Given the description of an element on the screen output the (x, y) to click on. 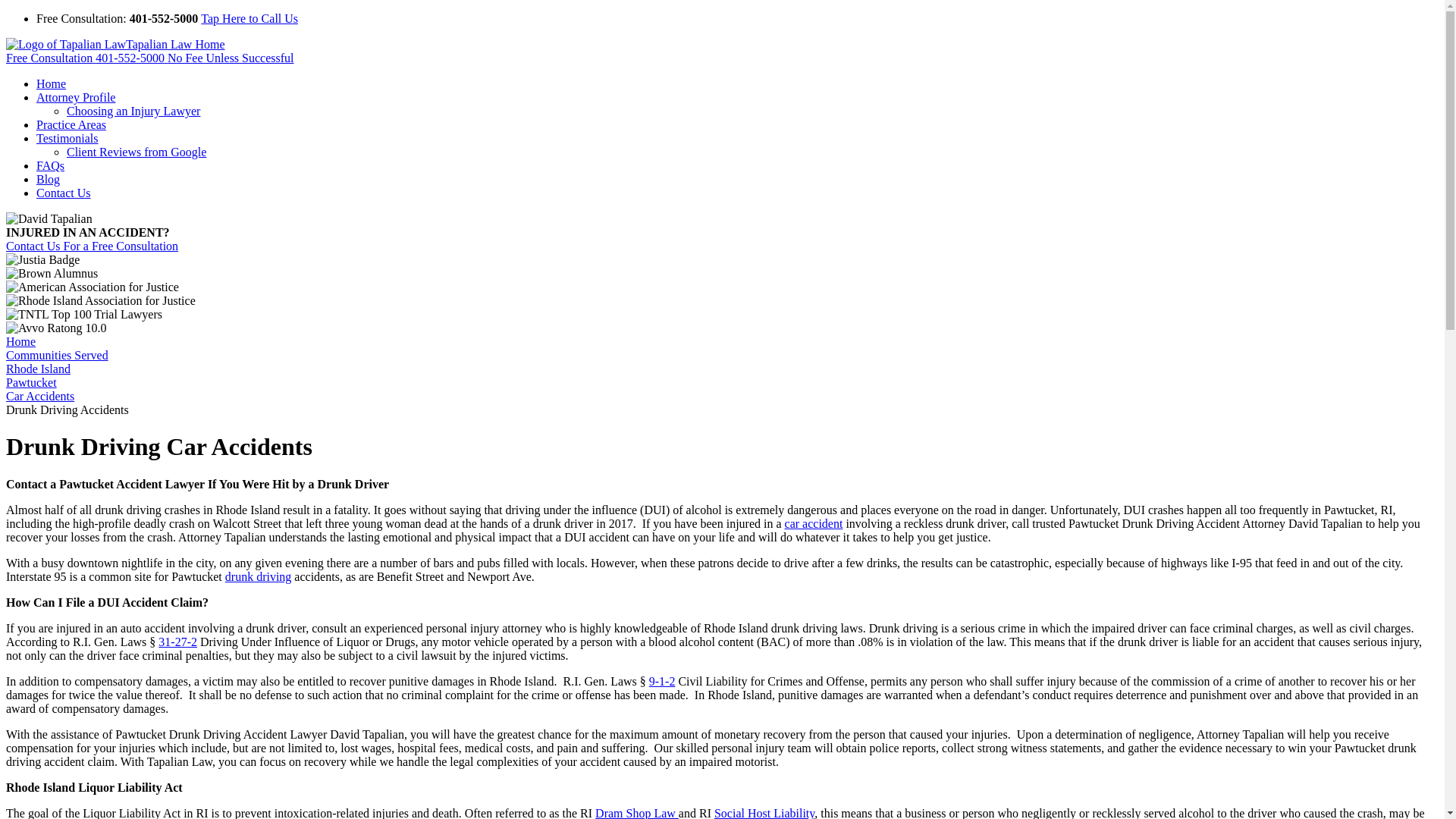
FAQs (50, 164)
Blog (47, 178)
drunk driving (258, 576)
Tap Here to Call Us (249, 18)
Home (50, 83)
Back to Home (114, 43)
Free Consultation 401-552-5000 No Fee Unless Successful (149, 57)
Pawtucket (30, 382)
Testimonials (67, 137)
31-27-2 (177, 641)
